Given the description of an element on the screen output the (x, y) to click on. 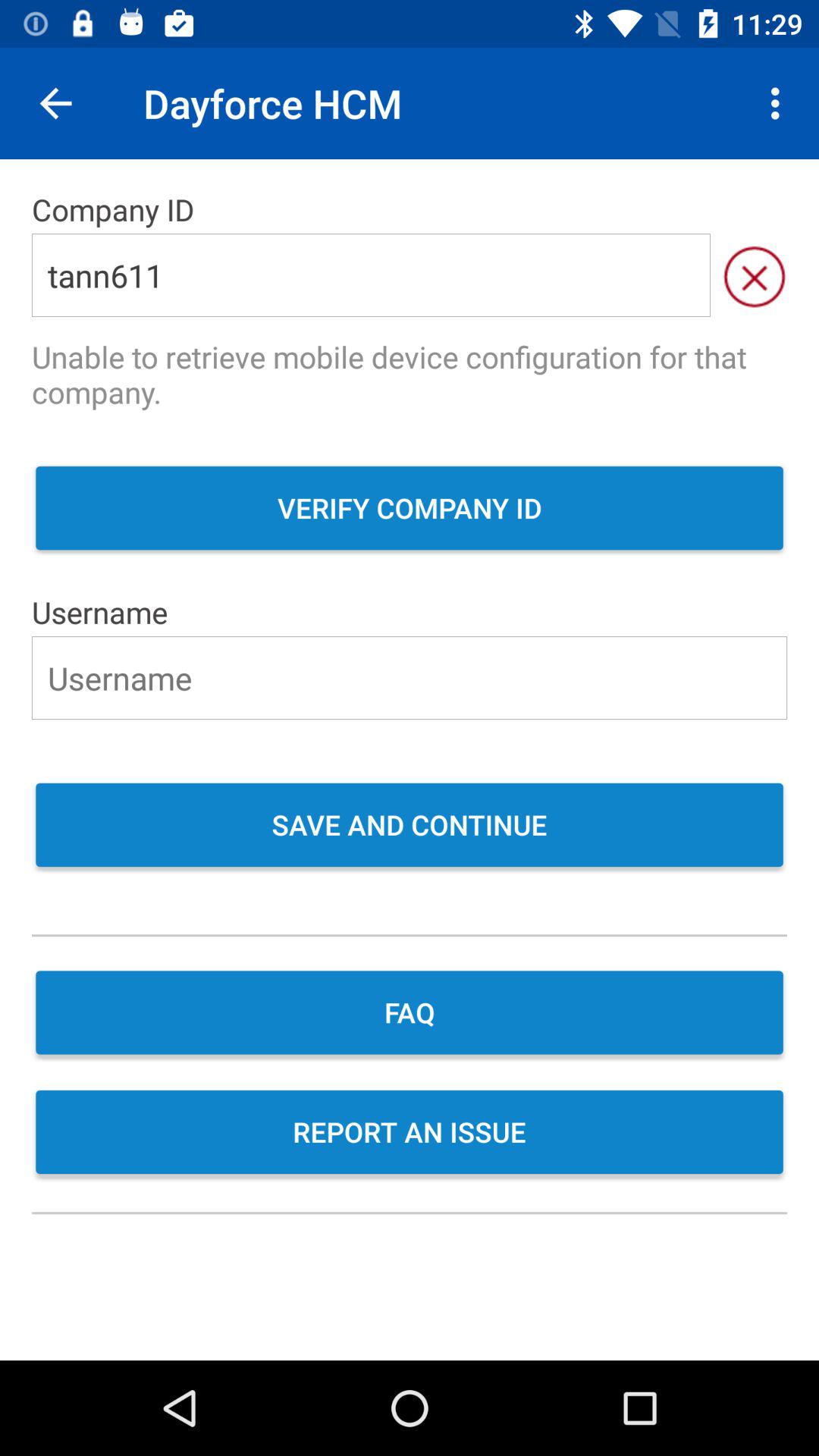
enter the username (409, 677)
